Given the description of an element on the screen output the (x, y) to click on. 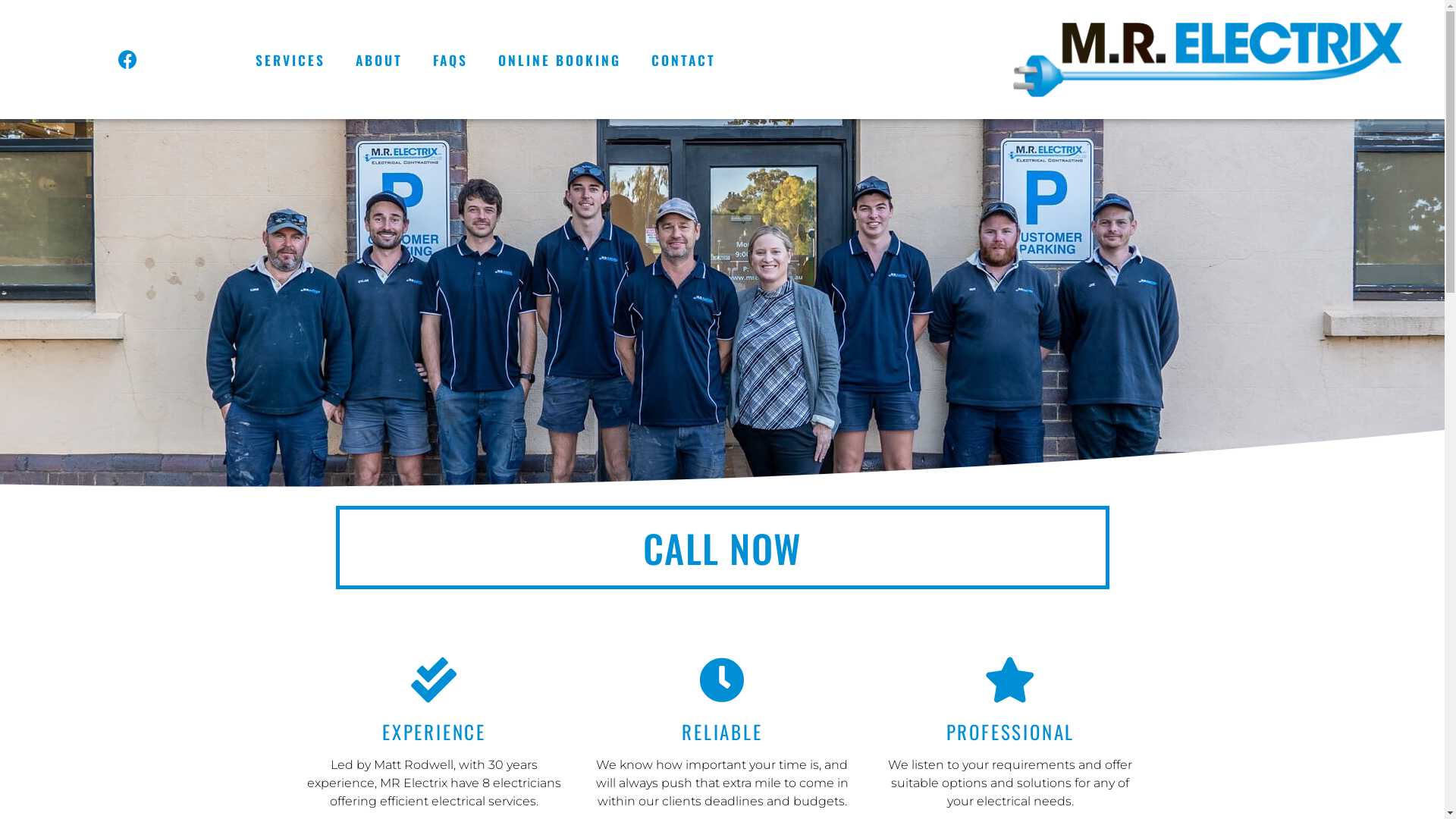
ABOUT Element type: text (378, 59)
ONLINE BOOKING Element type: text (559, 59)
CONTACT Element type: text (683, 59)
CALL NOW Element type: text (721, 547)
FAQS Element type: text (450, 59)
SERVICES Element type: text (290, 59)
